Given the description of an element on the screen output the (x, y) to click on. 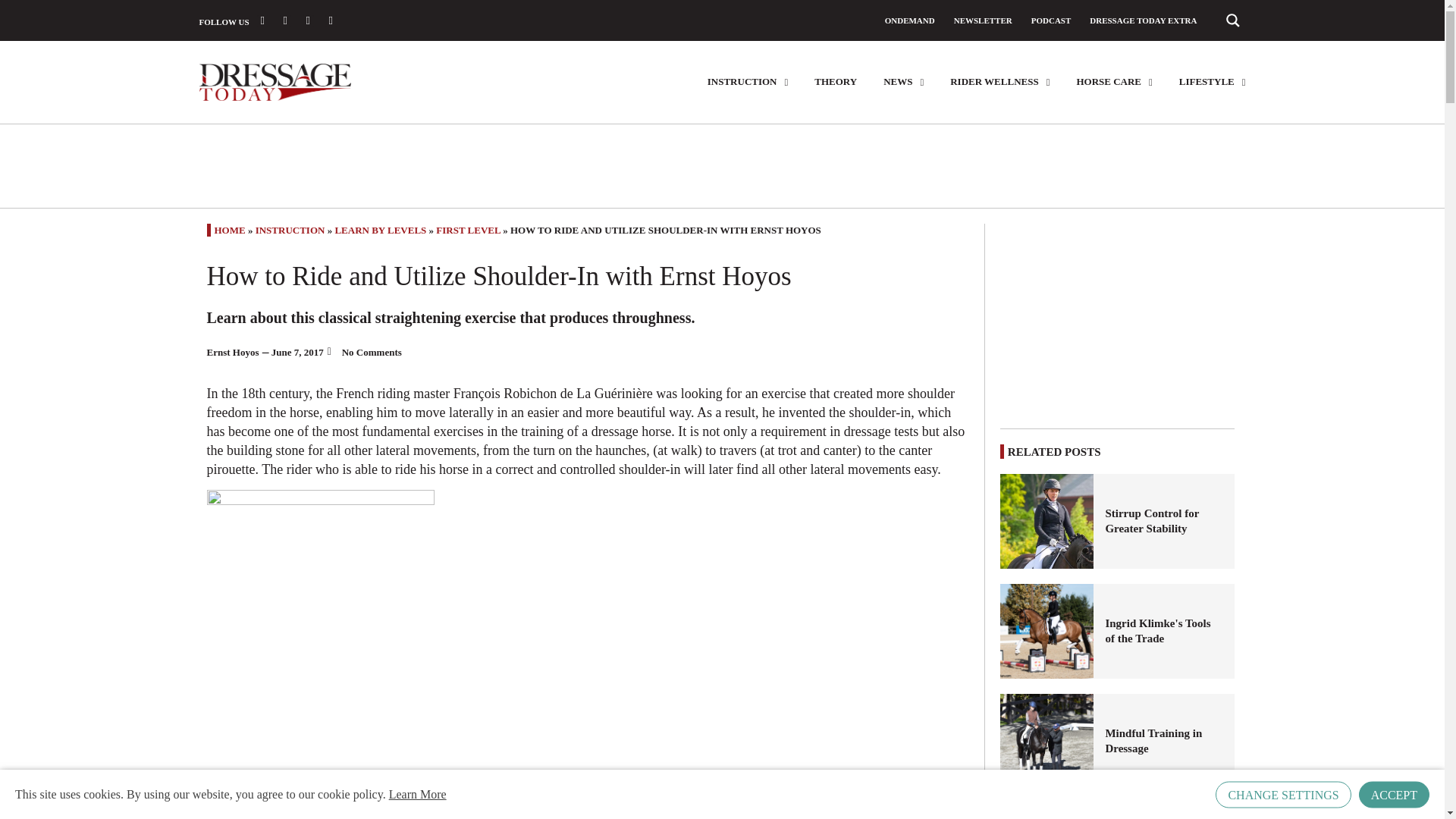
LIFESTYLE (1212, 81)
Ingrid Klimke's Tools of the Trade (1164, 630)
HORSE CARE (1113, 81)
RIDER WELLNESS (999, 81)
Stirrup Control for Greater Stability (1164, 521)
ONDEMAND (909, 20)
NEWS (903, 81)
Mindful Training in Dressage (1164, 740)
INSTRUCTION (748, 81)
Mindful Training in Dressage (1047, 740)
Ingrid Klimke's Tools of the Trade (1047, 630)
DRESSAGE TODAY EXTRA (1142, 20)
Connecting with the Seat in Canter (1047, 811)
3rd party ad content (1117, 318)
3rd party ad content (721, 165)
